Given the description of an element on the screen output the (x, y) to click on. 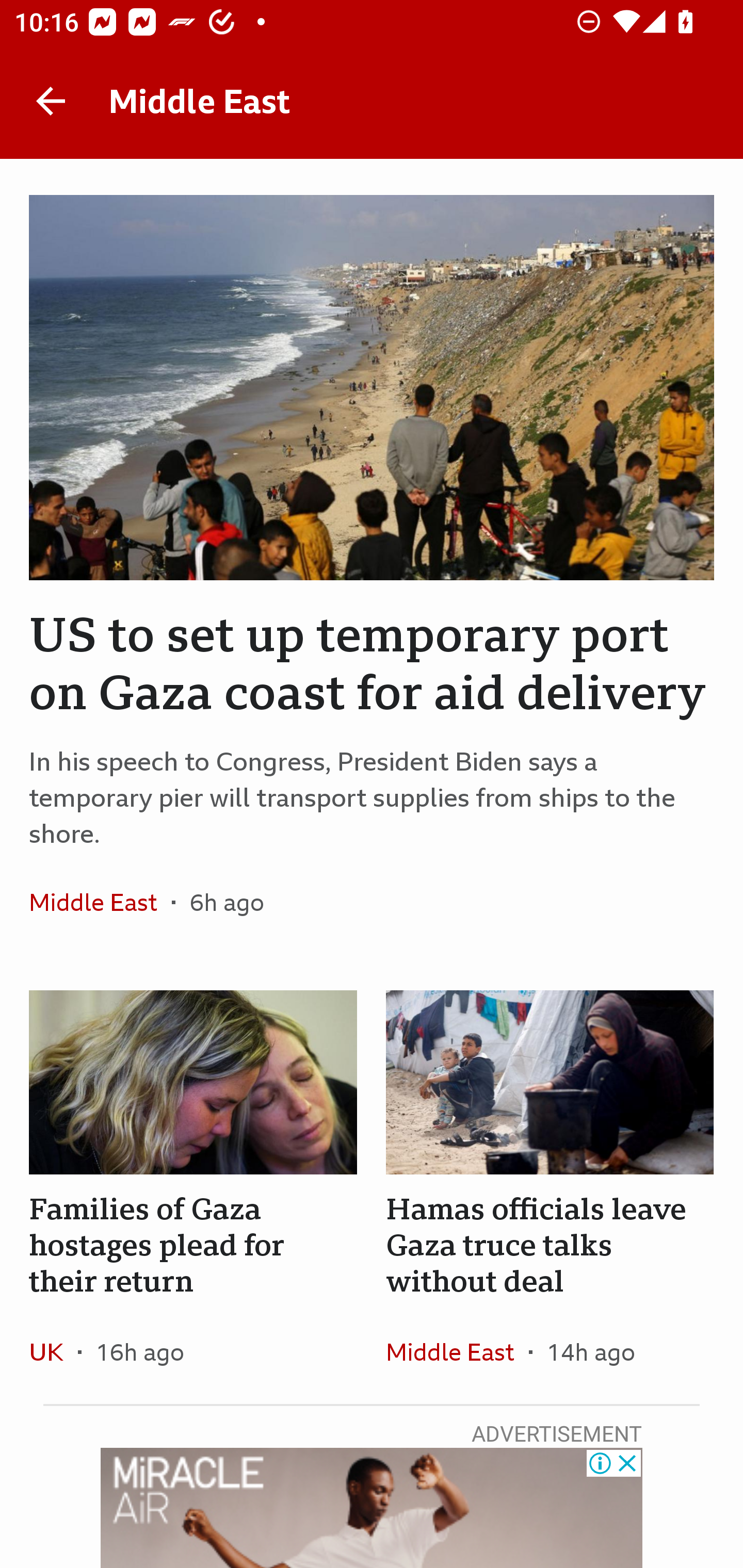
Back (50, 101)
Middle East In the section Middle East (99, 901)
UK In the section UK (53, 1351)
Middle East In the section Middle East (457, 1351)
